Given the description of an element on the screen output the (x, y) to click on. 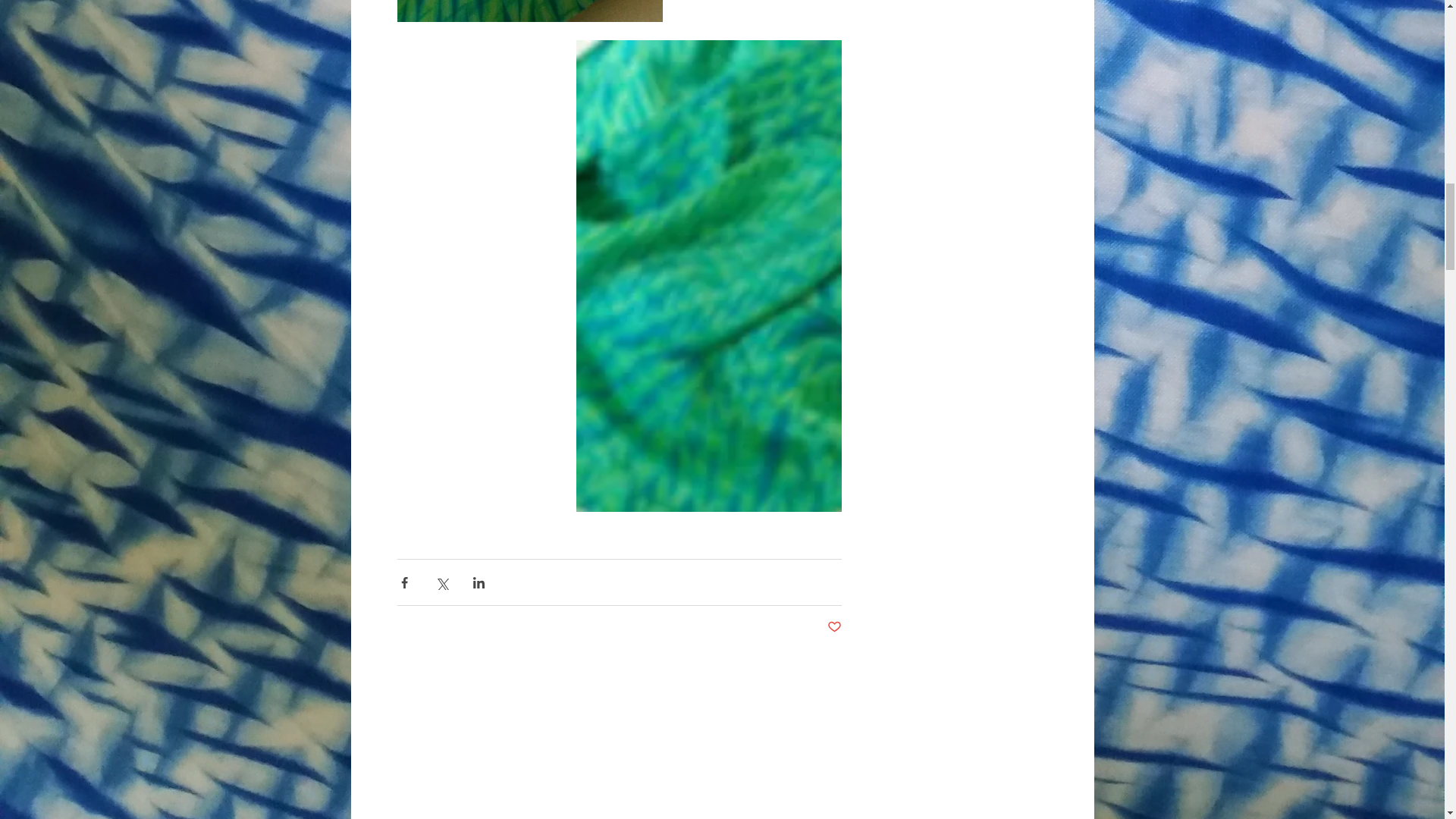
Post not marked as liked (834, 627)
